Given the description of an element on the screen output the (x, y) to click on. 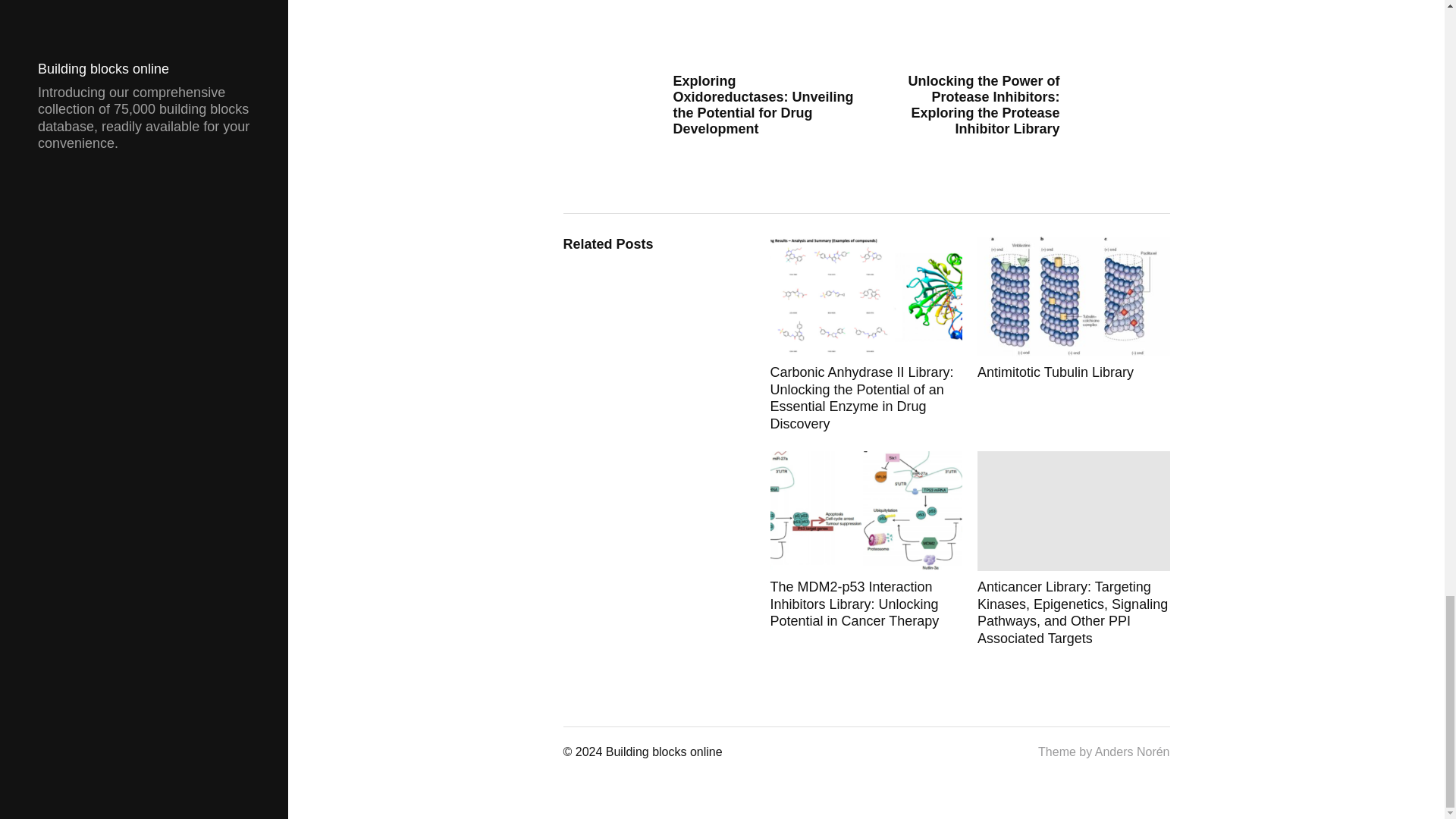
Building blocks online (663, 752)
Antimitotic Tubulin Library (1073, 334)
